Given the description of an element on the screen output the (x, y) to click on. 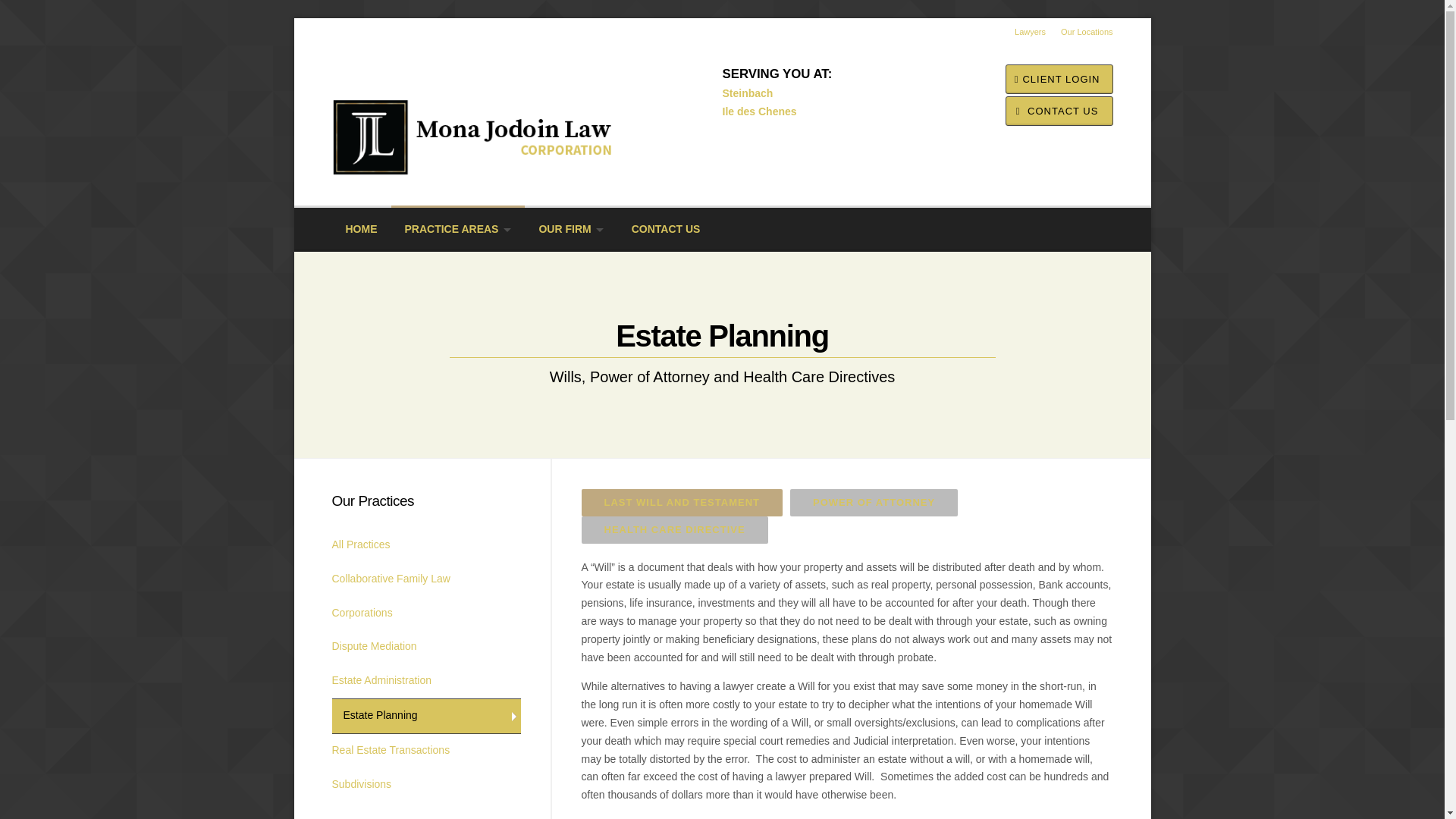
PRACTICE AREAS (458, 228)
Lawyers (1021, 31)
Steinbach (747, 92)
Estate Planning (426, 715)
CosmoLex Client Login (1059, 79)
Ile des Chenes (759, 111)
Real Estate Transactions (426, 750)
HOME (361, 229)
Subdivisions (426, 785)
HEALTH CARE DIRECTIVE (673, 529)
Skip to content (329, 27)
POWER OF ATTORNEY (874, 502)
CONTACT US (1059, 111)
The Law Offices of Mona Jodoin Law Corporation (501, 110)
Dispute Mediation (426, 646)
